Given the description of an element on the screen output the (x, y) to click on. 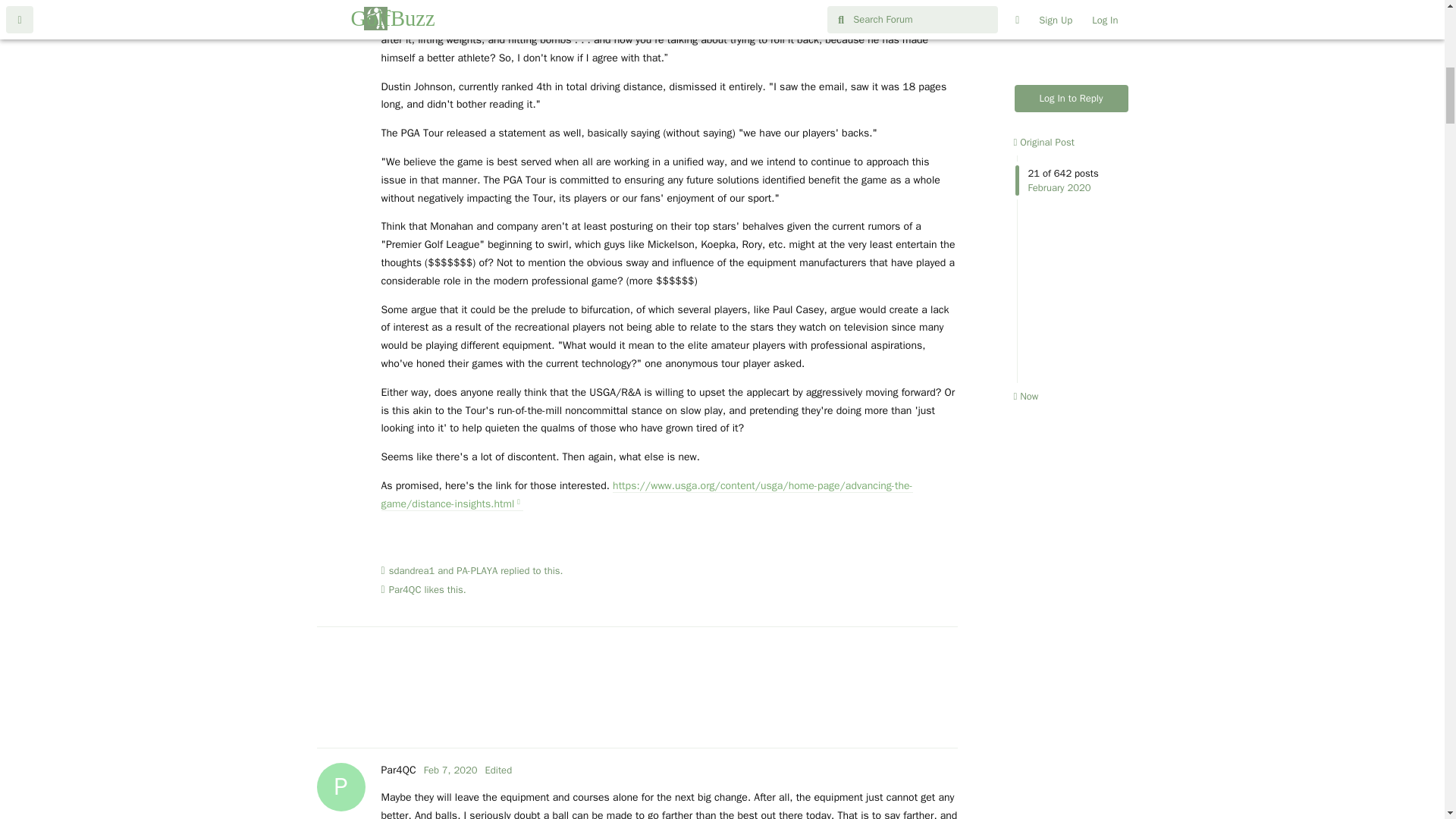
sdandrea1 (411, 570)
Friday, February 7, 2020 3:18 PM (450, 769)
Feb 7, 2020 (397, 769)
Par4QC (450, 769)
PA-PLAYA (405, 589)
